Given the description of an element on the screen output the (x, y) to click on. 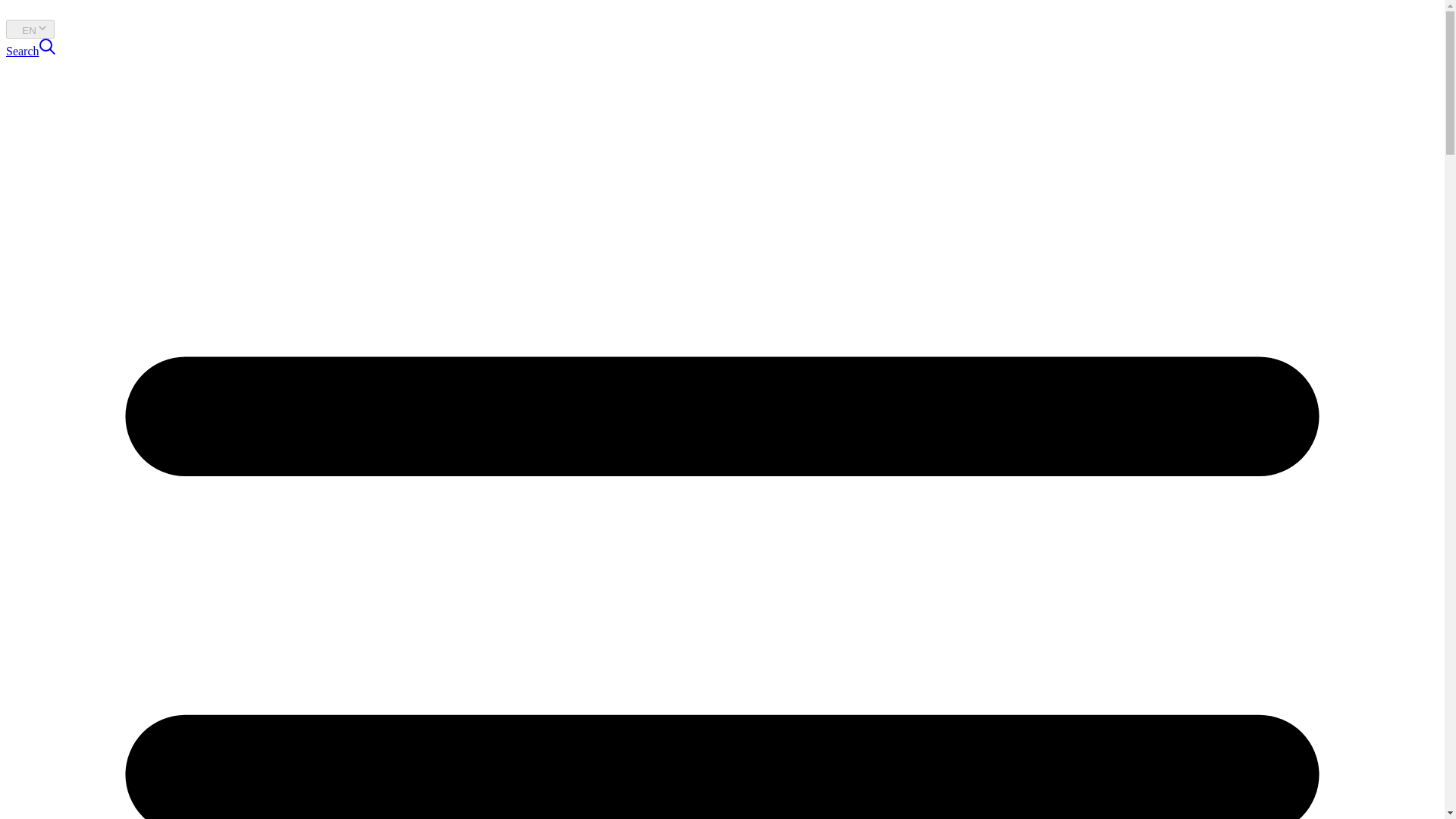
EN (30, 28)
Search (30, 51)
